Given the description of an element on the screen output the (x, y) to click on. 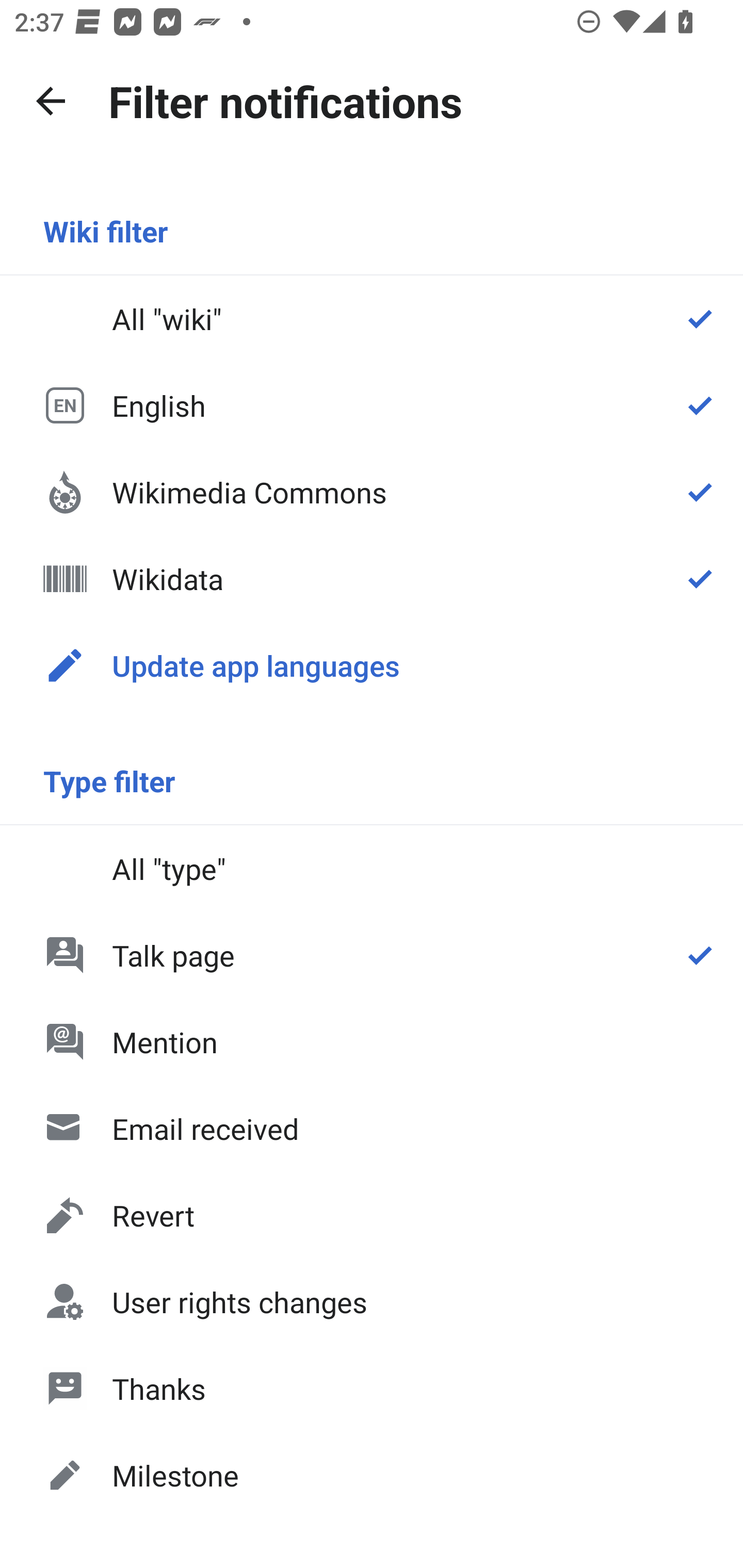
Navigate up (50, 101)
All "wiki" (371, 318)
EN English (371, 405)
Wikimedia Commons (371, 491)
Wikidata (371, 578)
Update app languages (371, 665)
All "type" (371, 868)
Talk page (371, 955)
Mention (371, 1041)
Email received (371, 1128)
Revert (371, 1215)
User rights changes (371, 1302)
Thanks (371, 1388)
Milestone (371, 1474)
